Given the description of an element on the screen output the (x, y) to click on. 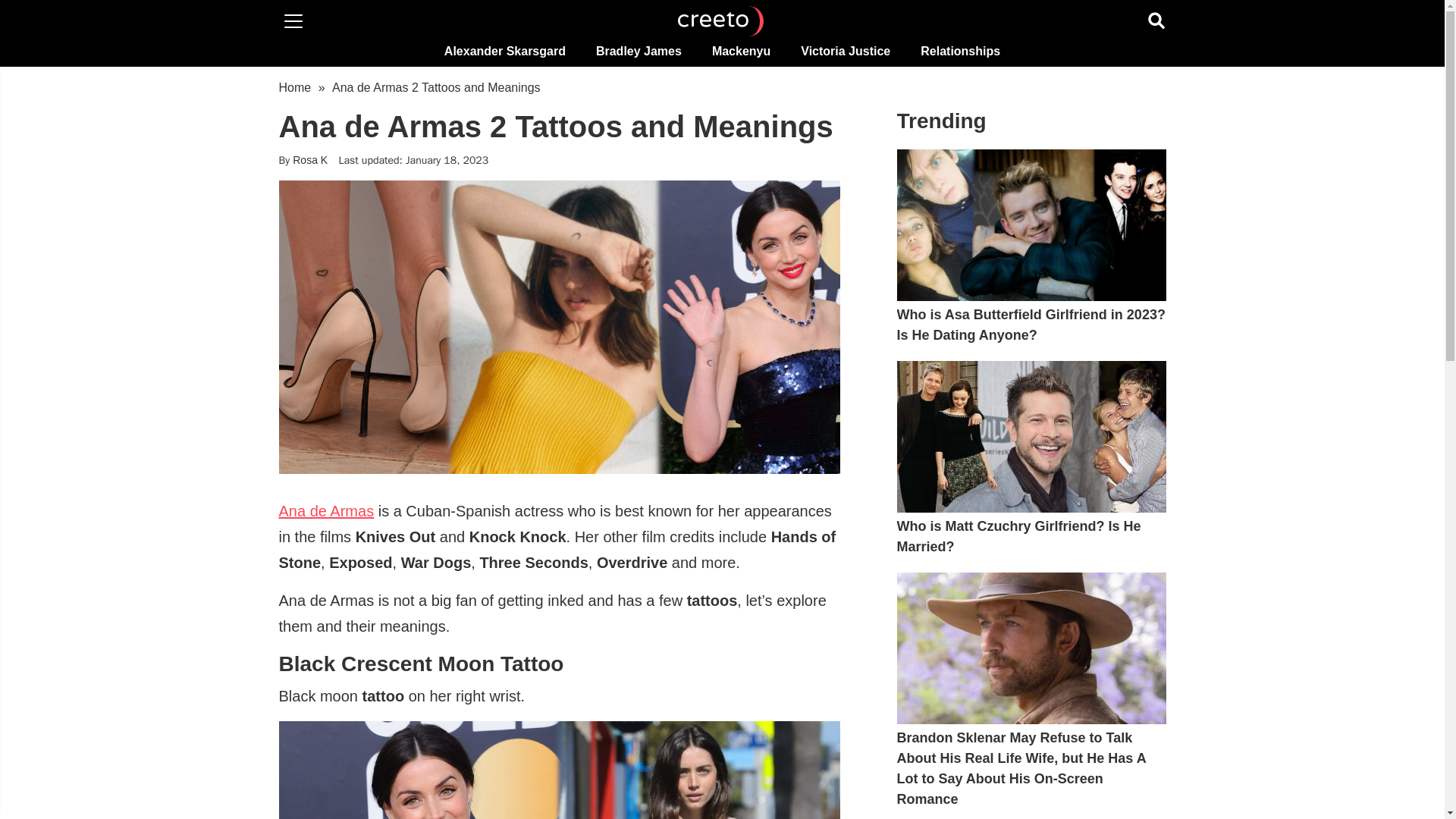
Mackenyu (741, 51)
Victoria Justice (845, 51)
Rosa K (309, 160)
Home (295, 87)
Bradley James (638, 51)
Ana de Armas (326, 510)
Relationships (959, 51)
Alexander Skarsgard (504, 51)
Posts by Rosa K (309, 160)
